Given the description of an element on the screen output the (x, y) to click on. 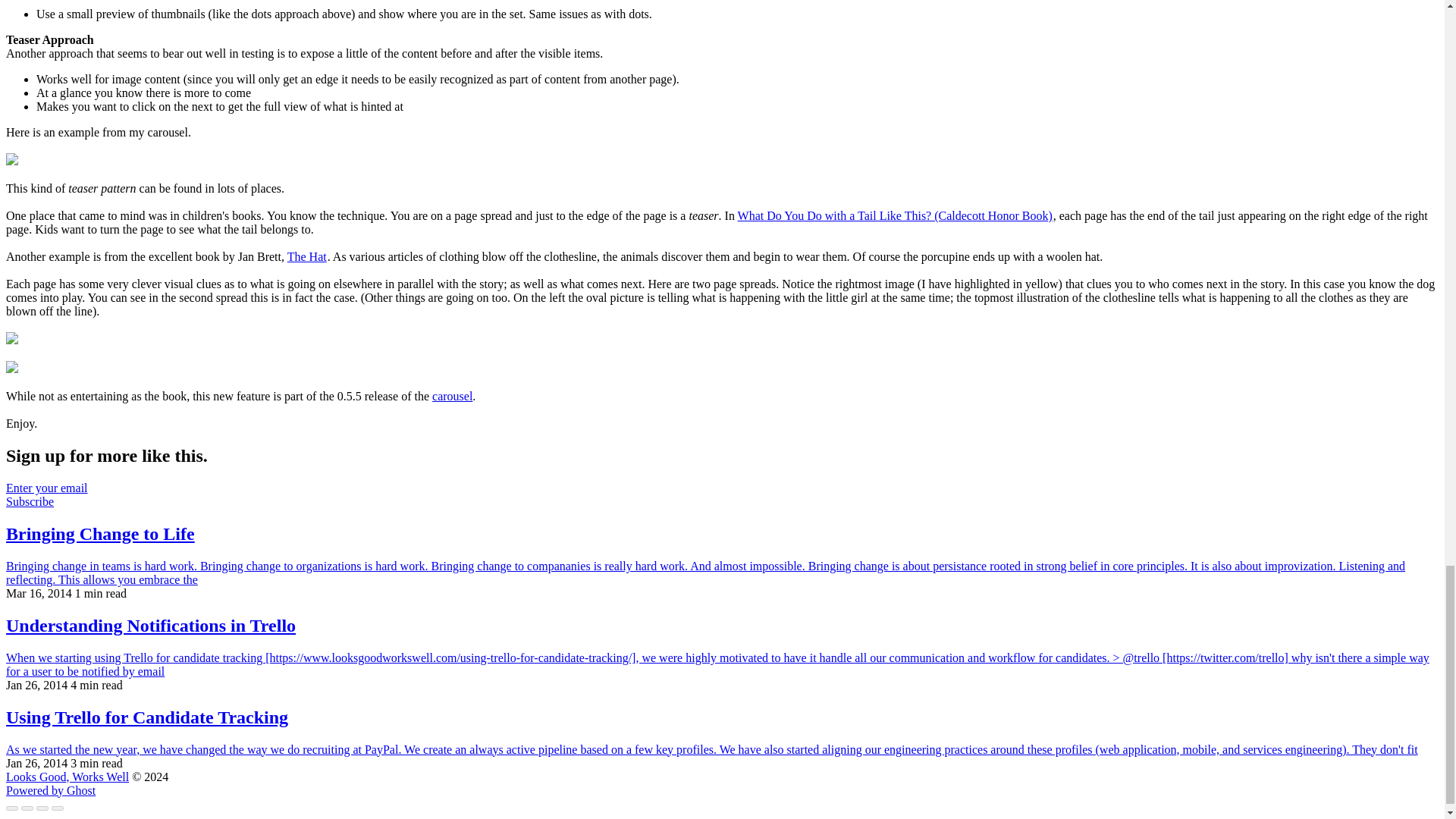
Looks Good, Works Well (67, 776)
Powered by Ghost (50, 789)
Share (27, 807)
carousel (451, 395)
Toggle fullscreen (42, 807)
The Hat (306, 256)
